Given the description of an element on the screen output the (x, y) to click on. 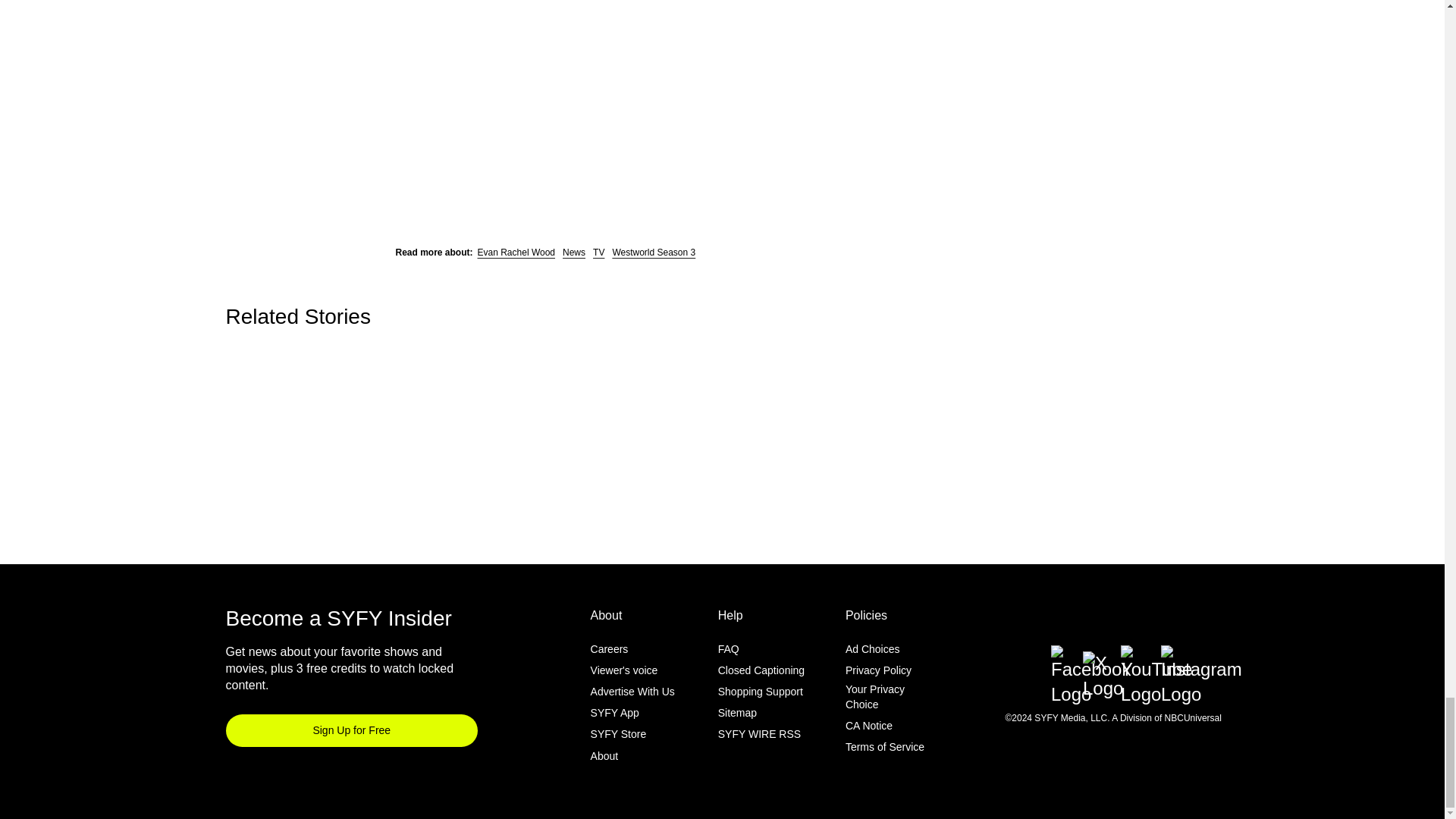
Advertise With Us (633, 691)
